Given the description of an element on the screen output the (x, y) to click on. 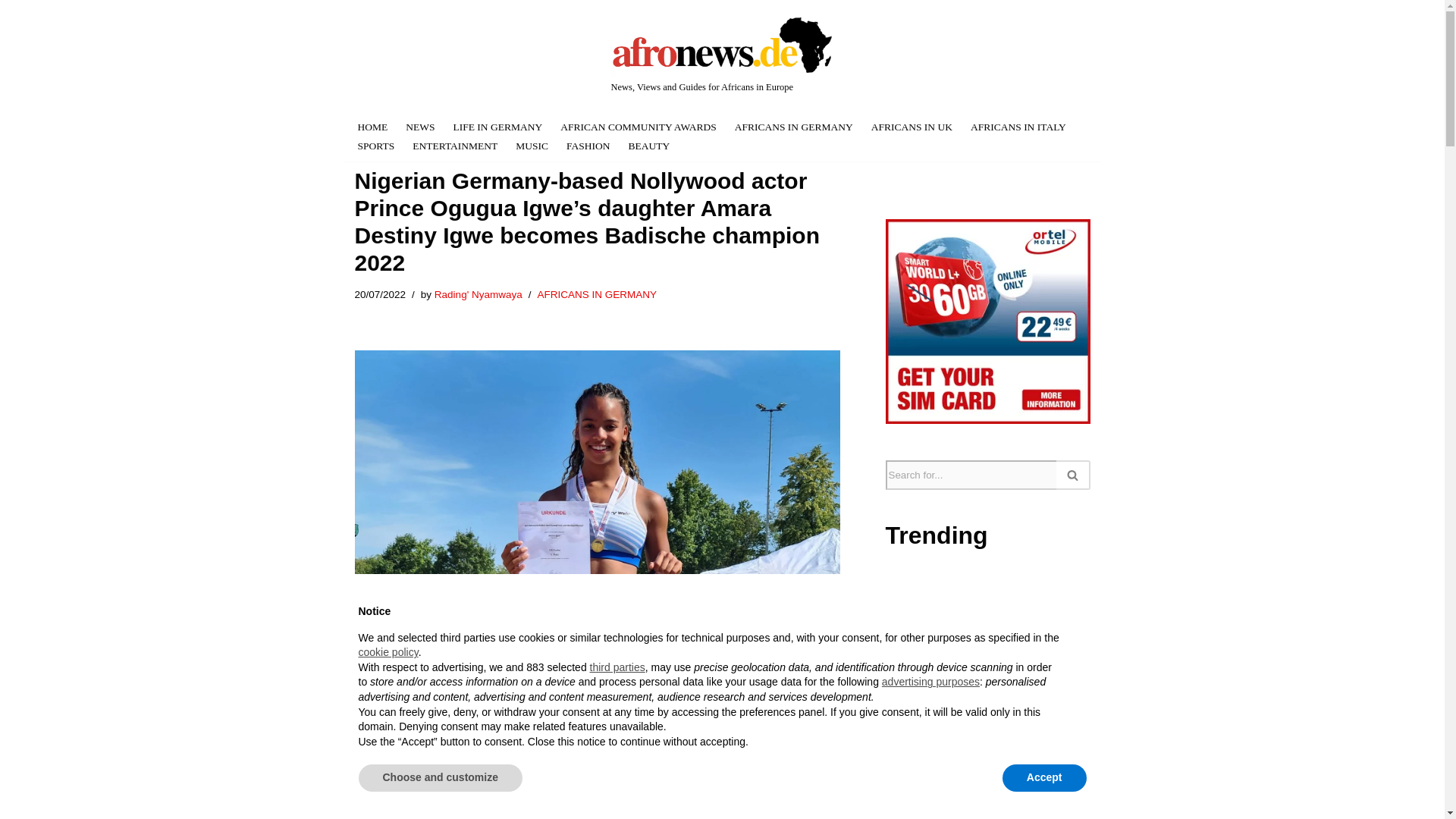
BEAUTY (648, 145)
Posts by Rading' Nyamwaya (477, 294)
NEWS (419, 126)
LIFE IN GERMANY (497, 126)
News, Views and Guides for Africans in Europe (722, 55)
AFRICAN COMMUNITY AWARDS (638, 126)
MUSIC (531, 145)
AFRICANS IN ITALY (1018, 126)
AFRICANS IN GERMANY (794, 126)
Rading' Nyamwaya (477, 294)
AFRICANS IN GERMANY (597, 294)
Skip to content (353, 31)
SPORTS (376, 145)
HOME (373, 126)
FASHION (588, 145)
